Given the description of an element on the screen output the (x, y) to click on. 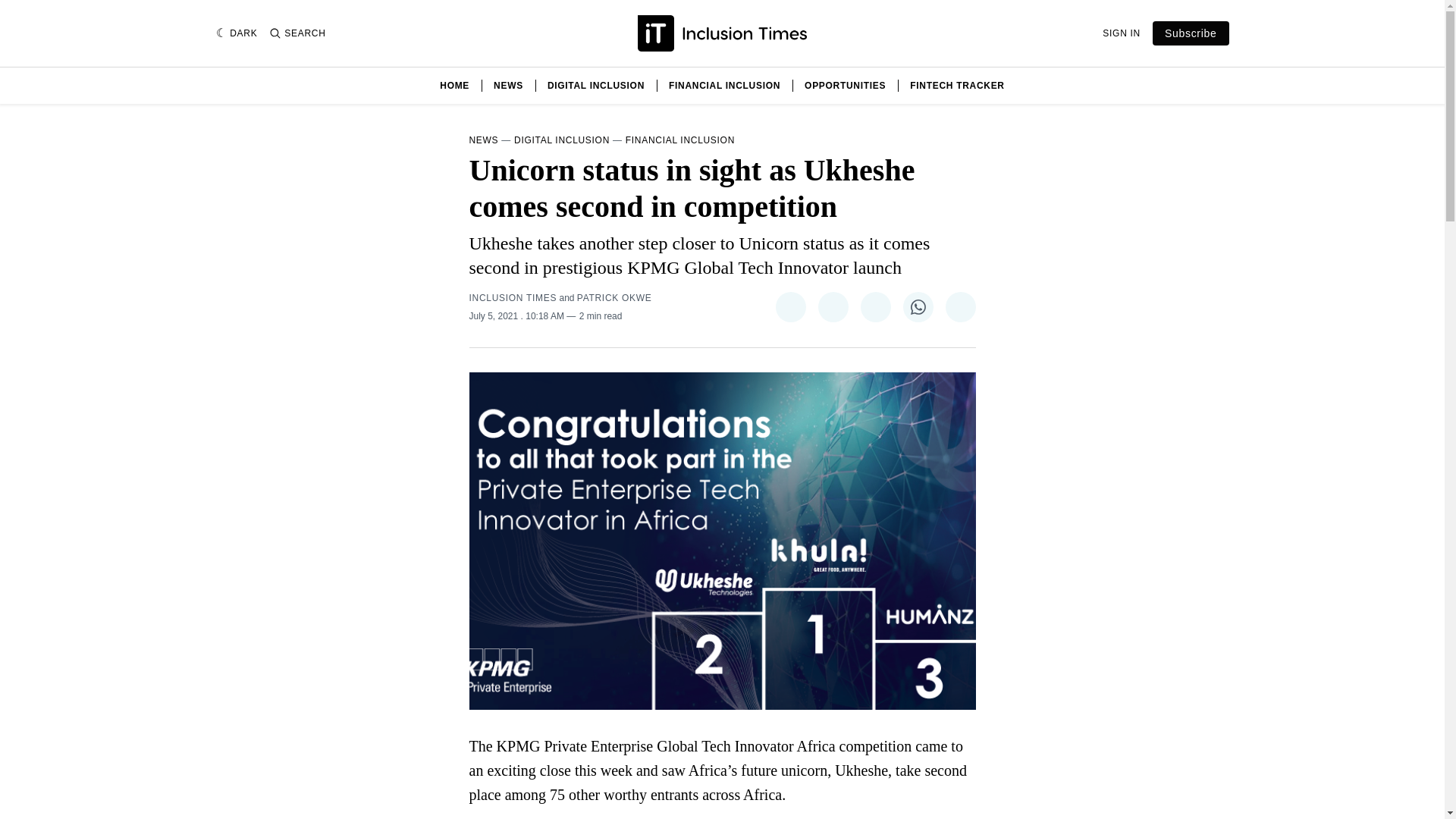
HOME (453, 85)
PATRICK OKWE (614, 297)
NEWS (507, 85)
OPPORTUNITIES (845, 85)
Share via Email (959, 306)
DIGITAL INCLUSION (561, 140)
DARK (236, 32)
FINTECH TRACKER (957, 85)
Share on WhatsApp (917, 306)
Subscribe (1190, 33)
